Given the description of an element on the screen output the (x, y) to click on. 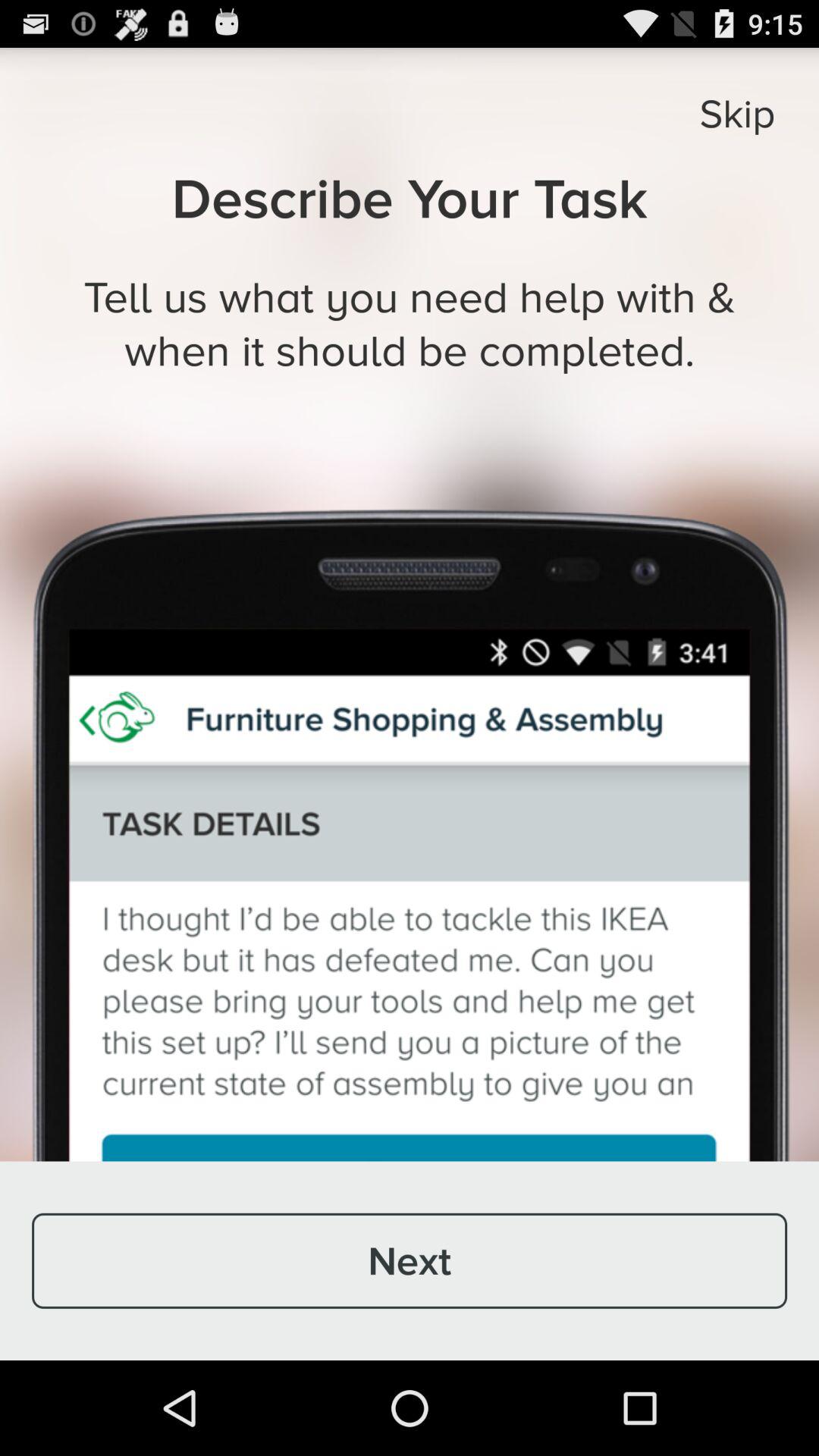
press the next item (409, 1260)
